Given the description of an element on the screen output the (x, y) to click on. 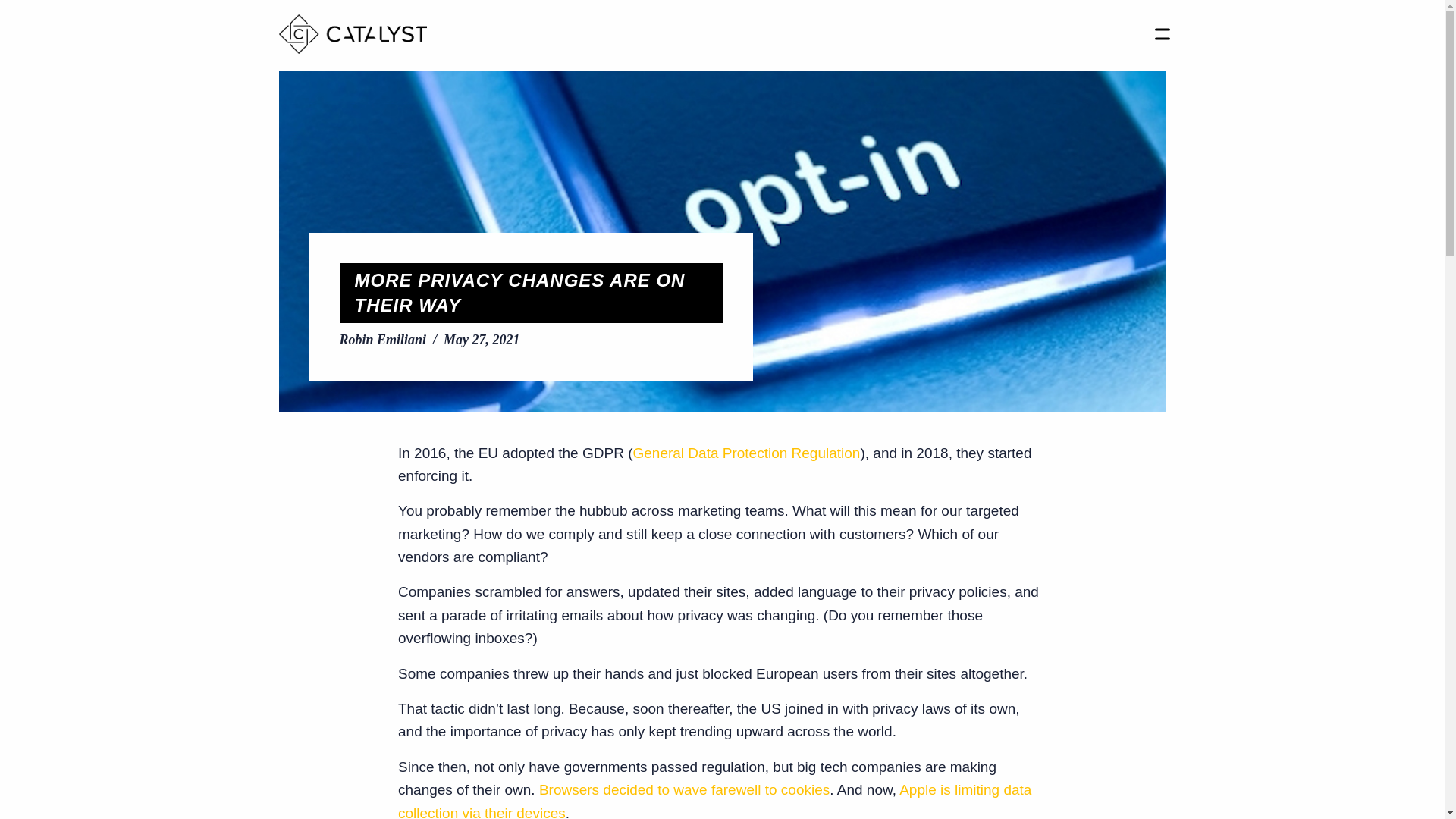
Catalyst Marketing (352, 34)
Browsers decided to wave farewell to cookies (683, 789)
General Data Protection Regulation (745, 452)
Apple is limiting data collection via their devices (713, 800)
